Given the description of an element on the screen output the (x, y) to click on. 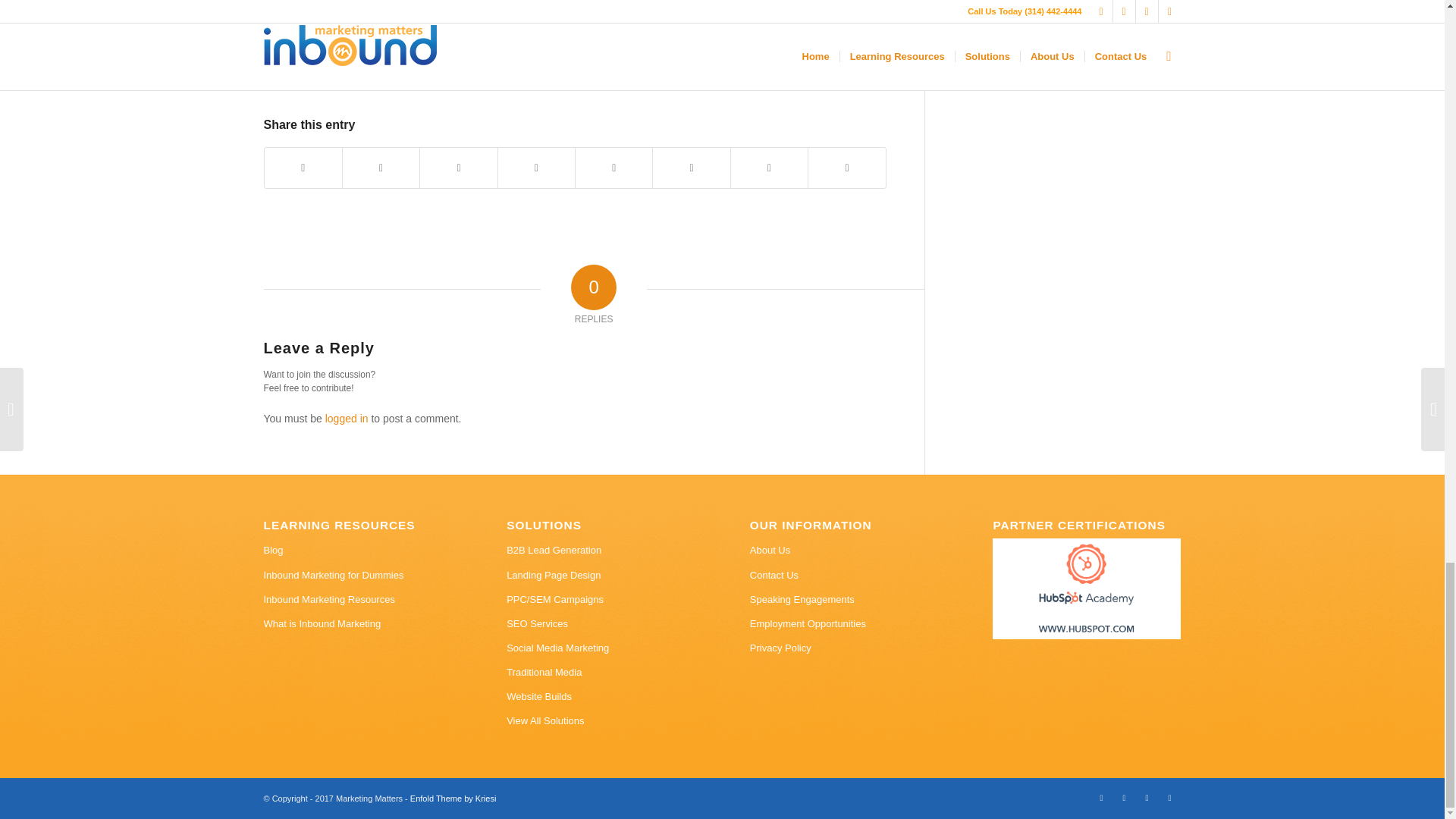
Blog (357, 550)
logged in (346, 418)
